Given the description of an element on the screen output the (x, y) to click on. 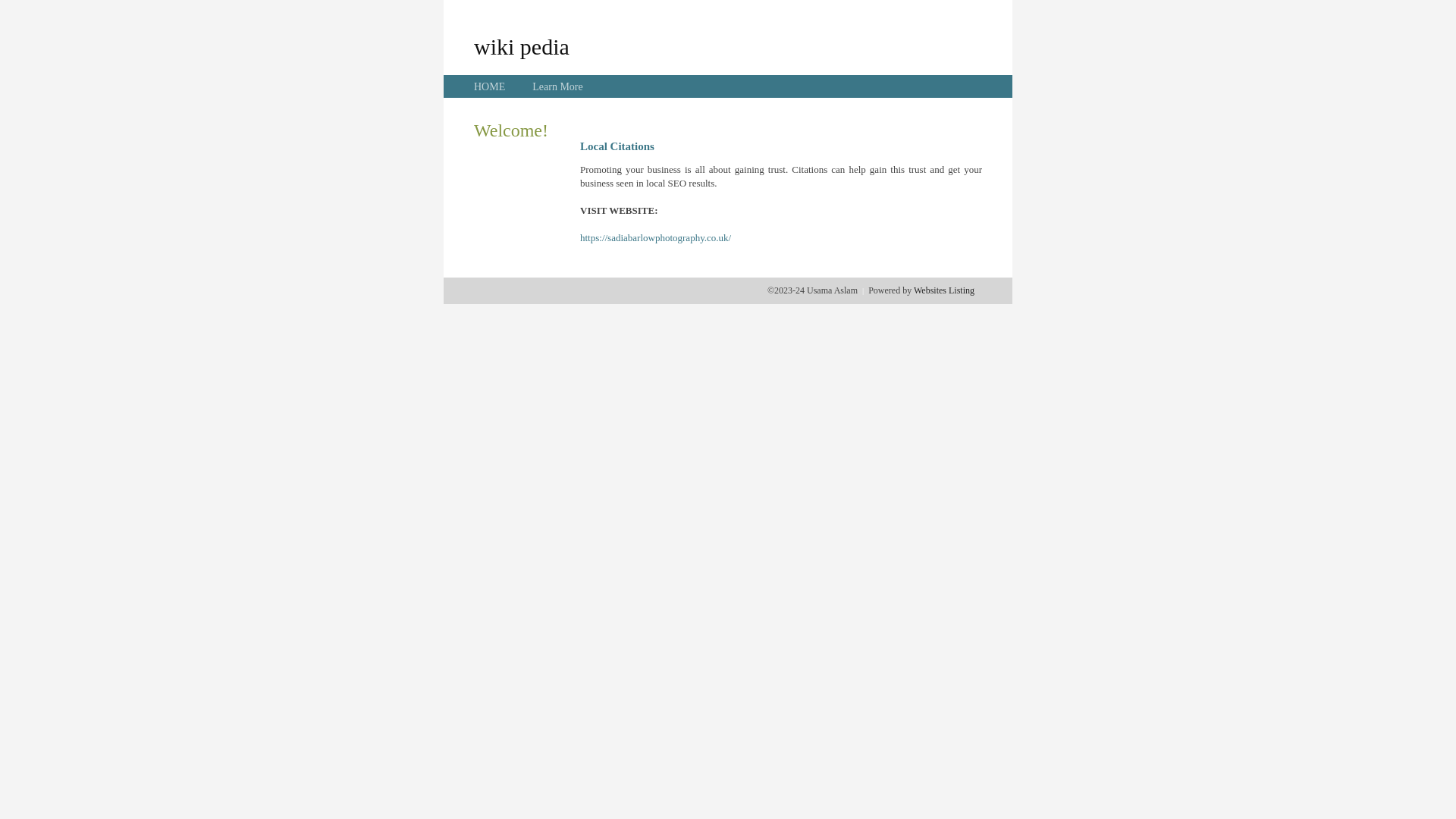
wiki pedia Element type: text (521, 46)
Websites Listing Element type: text (943, 290)
HOME Element type: text (489, 86)
https://sadiabarlowphotography.co.uk/ Element type: text (655, 237)
Learn More Element type: text (557, 86)
